Given the description of an element on the screen output the (x, y) to click on. 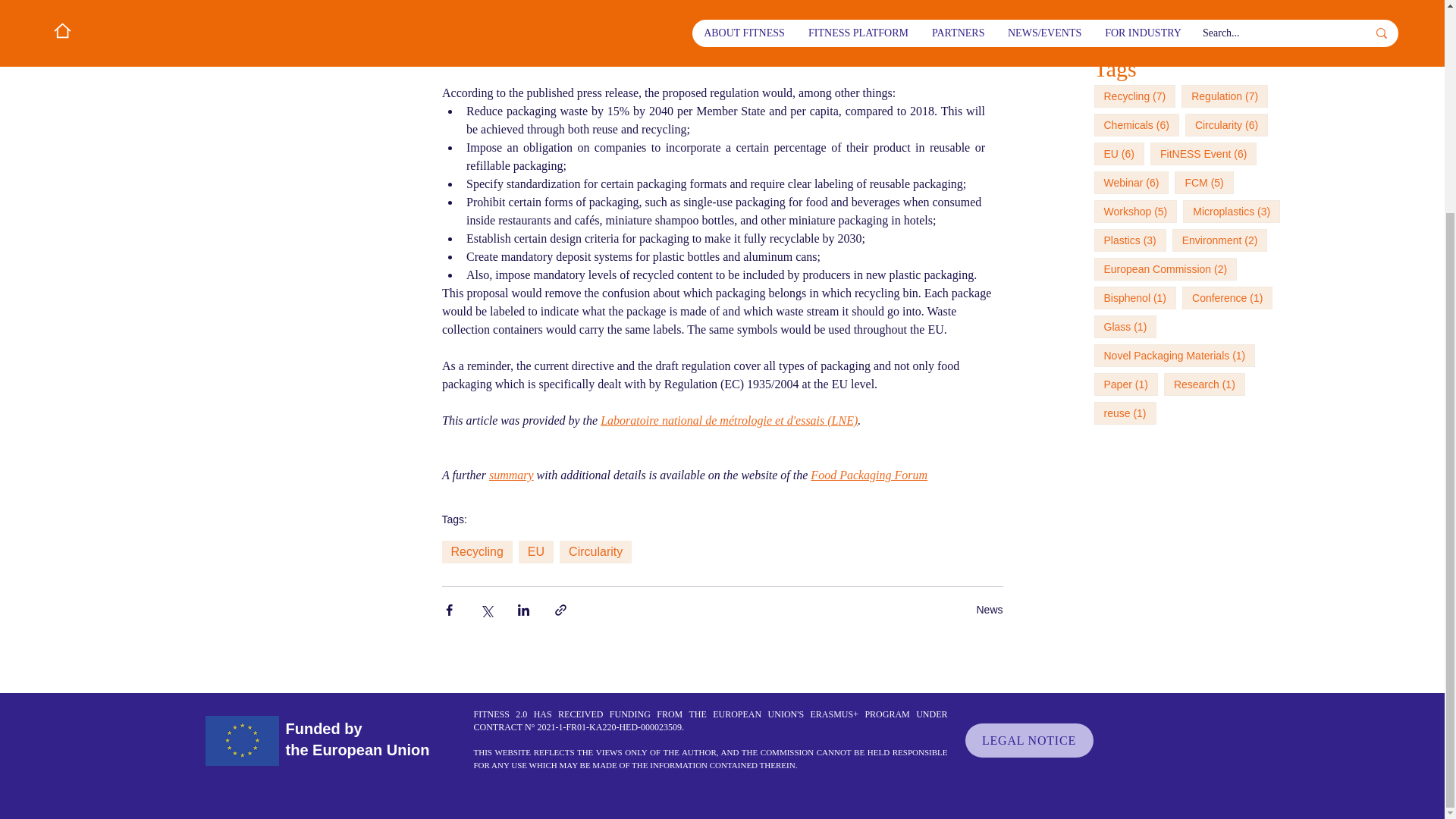
Circularity (595, 551)
News (989, 608)
summary (509, 474)
press release (782, 4)
Food Packaging Forum (868, 474)
EU (535, 551)
Recycling (476, 551)
available on the EC website (732, 56)
